Given the description of an element on the screen output the (x, y) to click on. 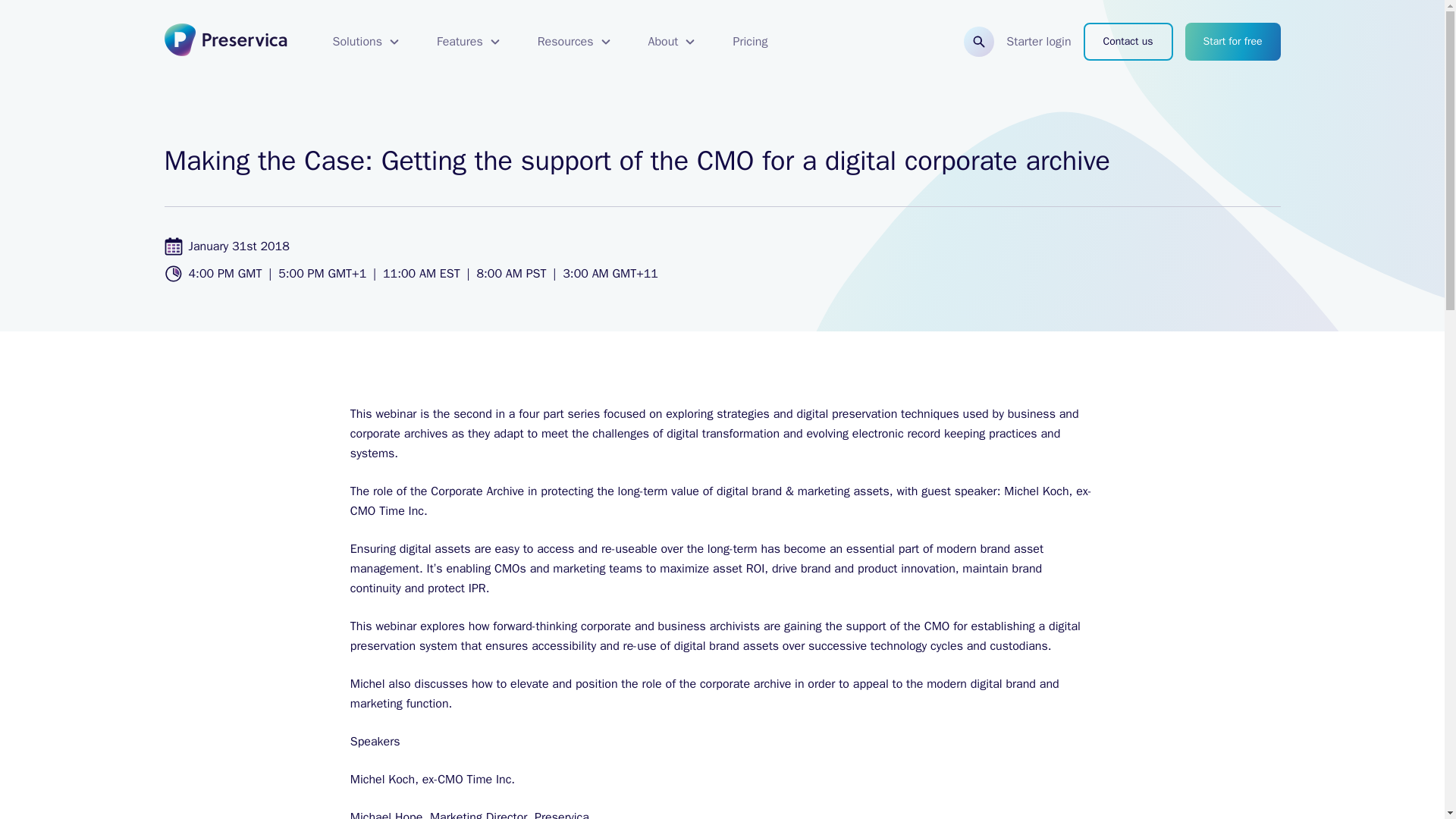
Solutions (366, 41)
Features (469, 41)
Resources (574, 41)
About (671, 41)
